Given the description of an element on the screen output the (x, y) to click on. 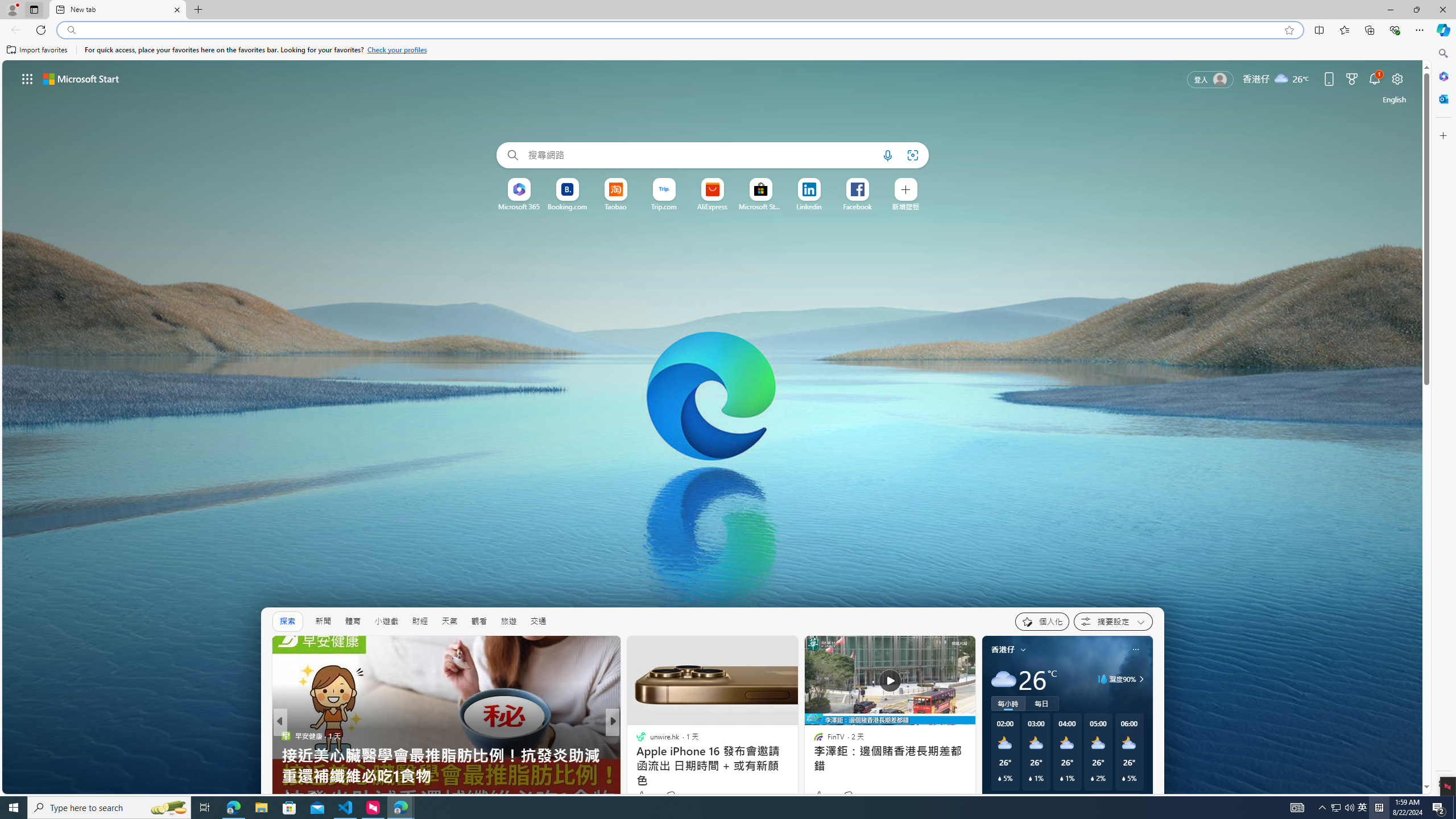
Facebook (857, 206)
Search icon (70, 29)
Profile 1 Profile, Please sign in (12, 9)
